Given the description of an element on the screen output the (x, y) to click on. 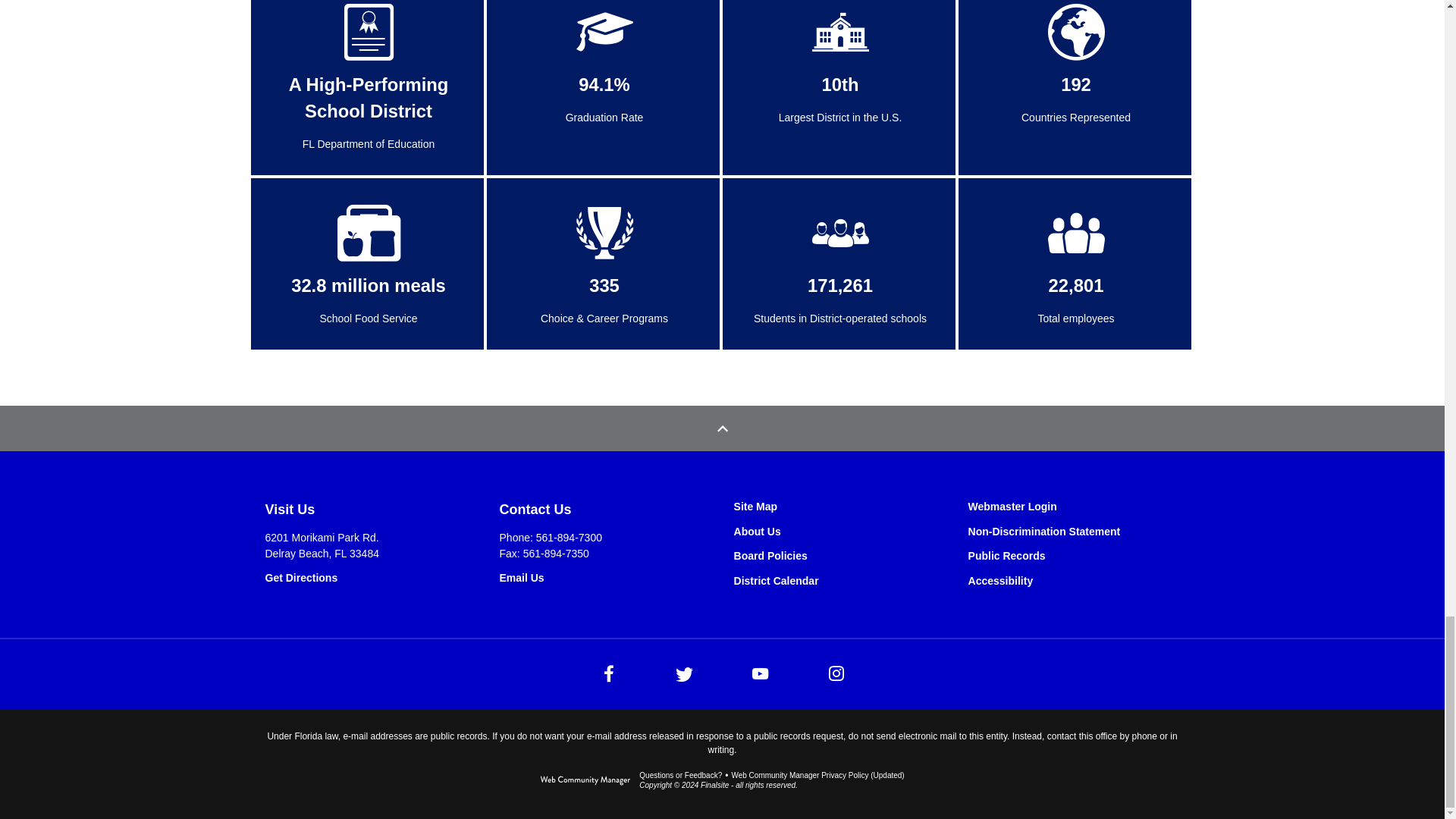
Click to email the primary contact (680, 775)
Finalsite - all rights reserved (585, 784)
